Given the description of an element on the screen output the (x, y) to click on. 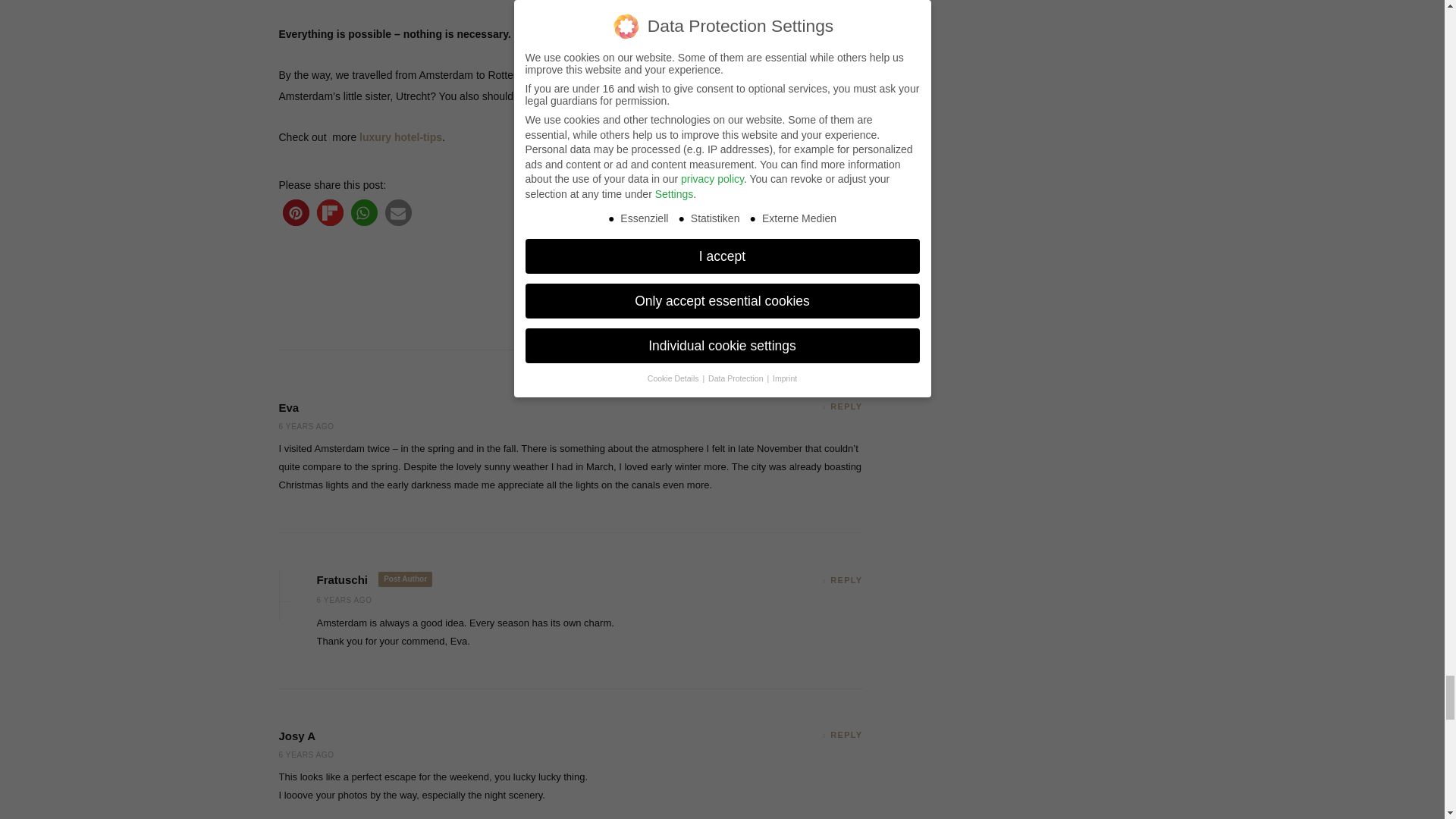
Share on Flipboard (330, 212)
Share on Whatsapp (363, 212)
Pin it on Pinterest (295, 212)
luxury hotel-tips (400, 136)
tips for Utrecht (732, 95)
Send by email (398, 212)
